Given the description of an element on the screen output the (x, y) to click on. 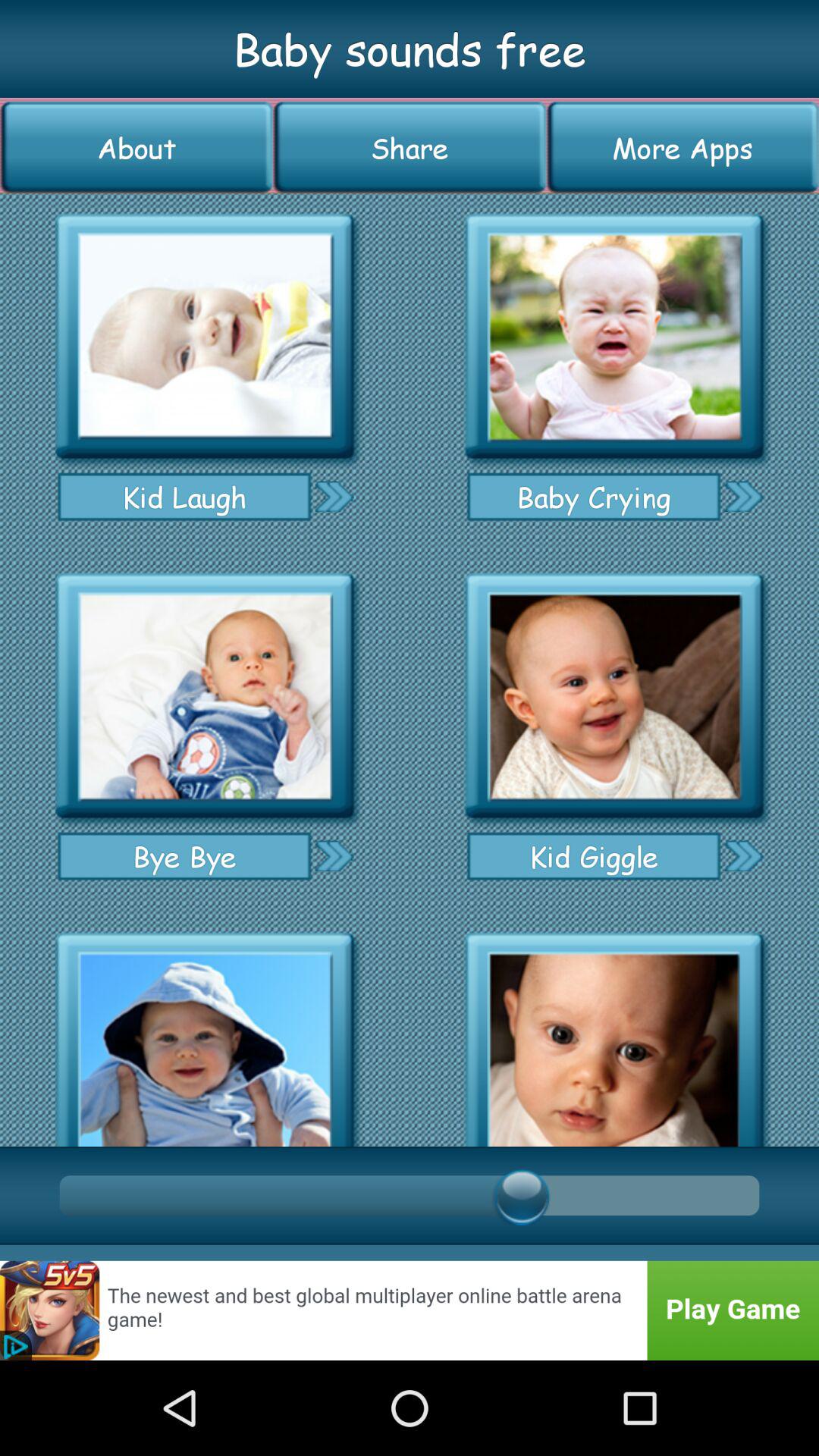
click the baby (613, 336)
